Given the description of an element on the screen output the (x, y) to click on. 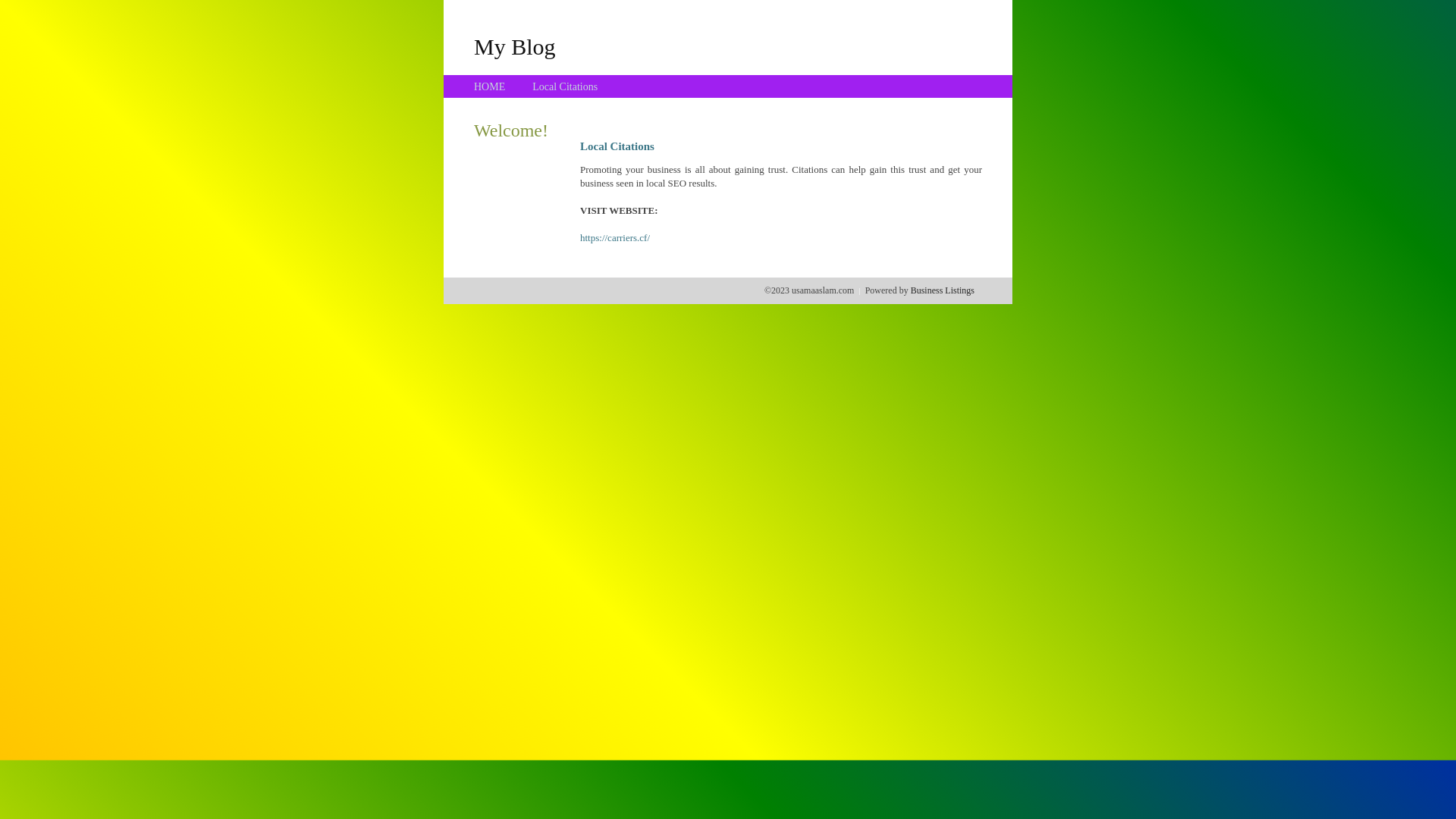
HOME Element type: text (489, 86)
Local Citations Element type: text (564, 86)
Business Listings Element type: text (942, 290)
https://carriers.cf/ Element type: text (614, 237)
My Blog Element type: text (514, 46)
